Given the description of an element on the screen output the (x, y) to click on. 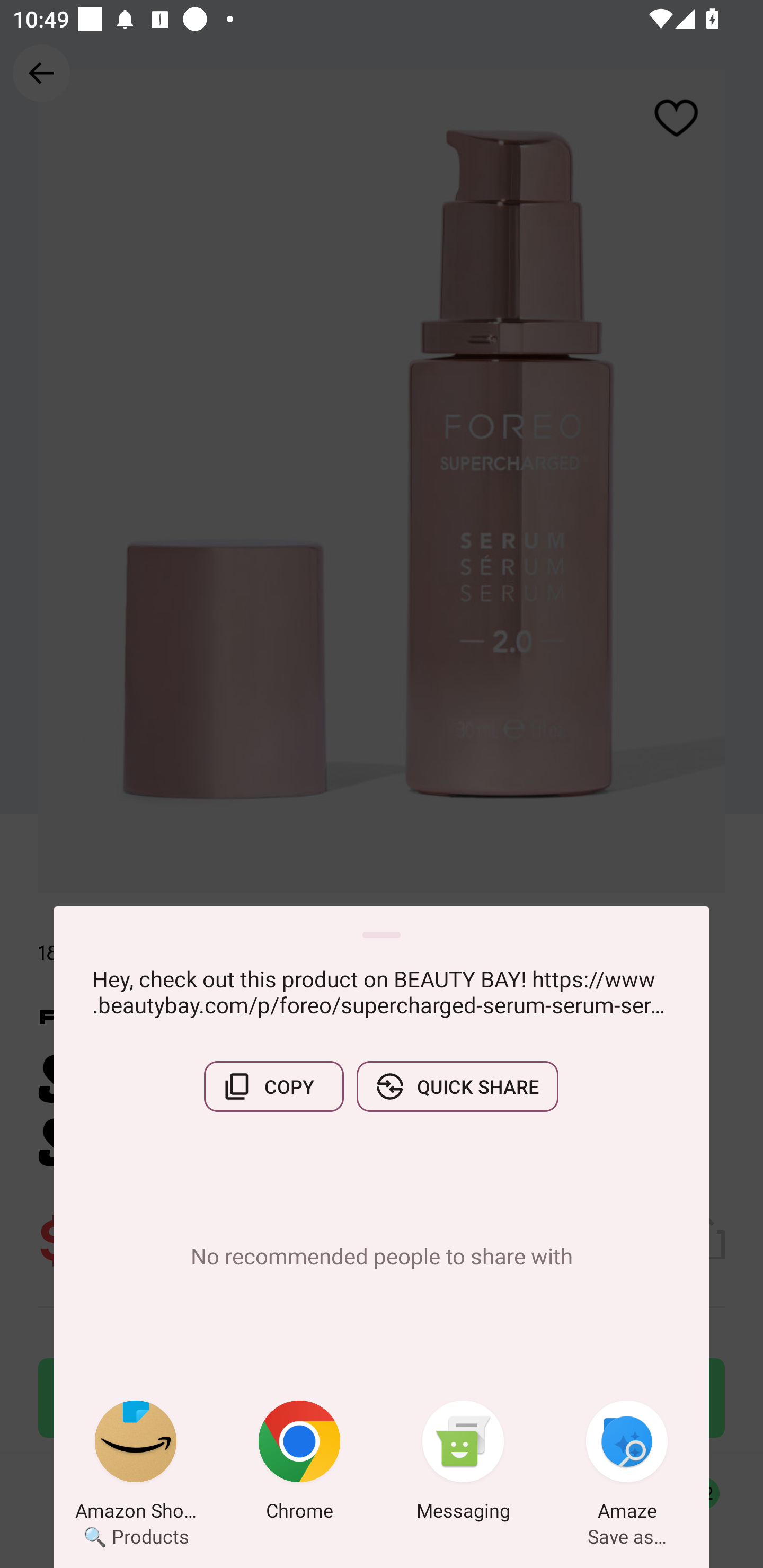
COPY (273, 1086)
QUICK SHARE (457, 1086)
Amazon Shopping 🔍 Products (135, 1463)
Chrome (299, 1463)
Messaging (463, 1463)
Amaze Save as… (626, 1463)
